Given the description of an element on the screen output the (x, y) to click on. 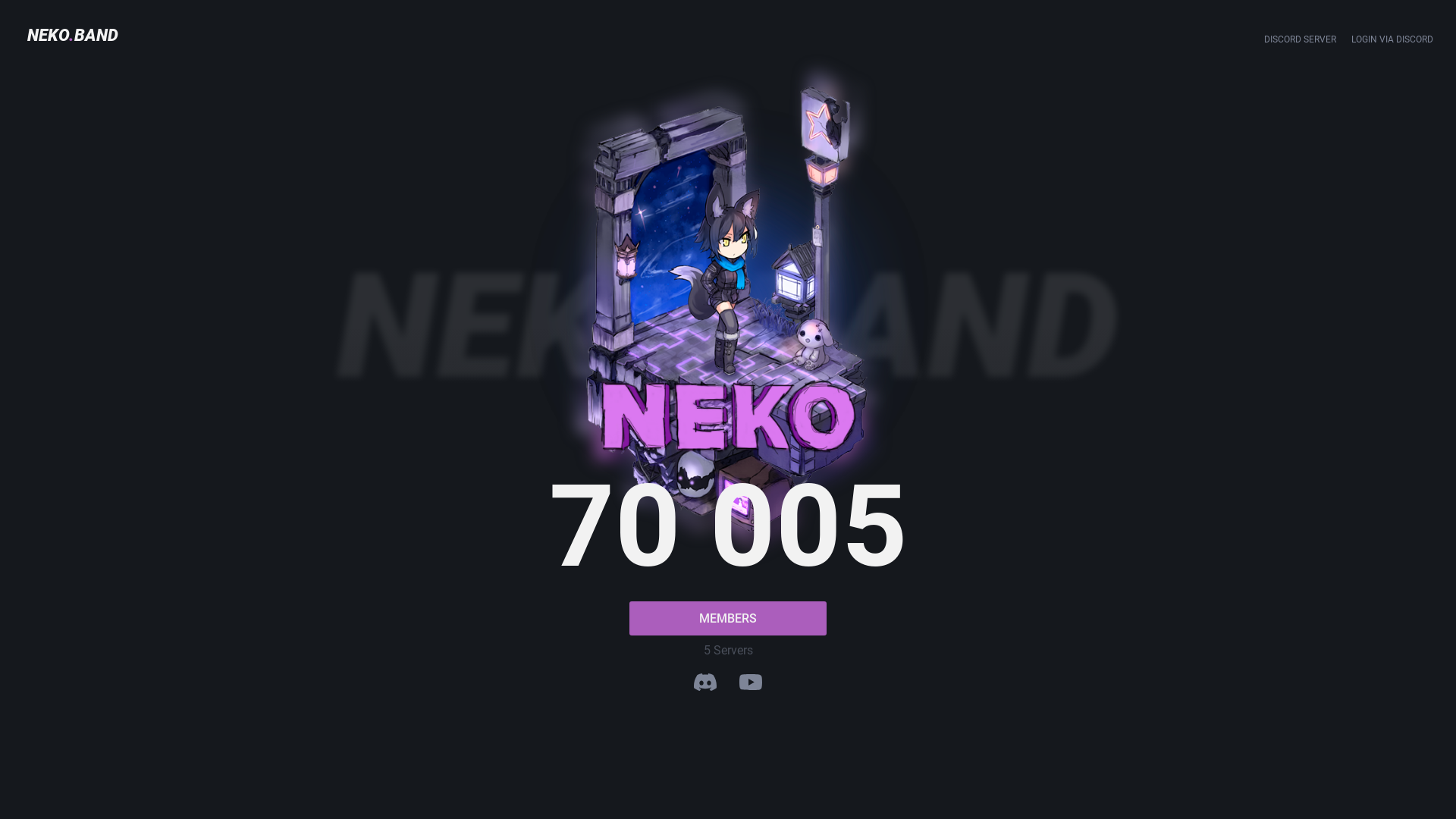
LOGIN VIA DISCORD Element type: text (1391, 39)
DISCORD SERVER Element type: text (1299, 39)
NEKO.BAND Element type: text (76, 35)
NEKO.BAND Element type: text (727, 326)
